Given the description of an element on the screen output the (x, y) to click on. 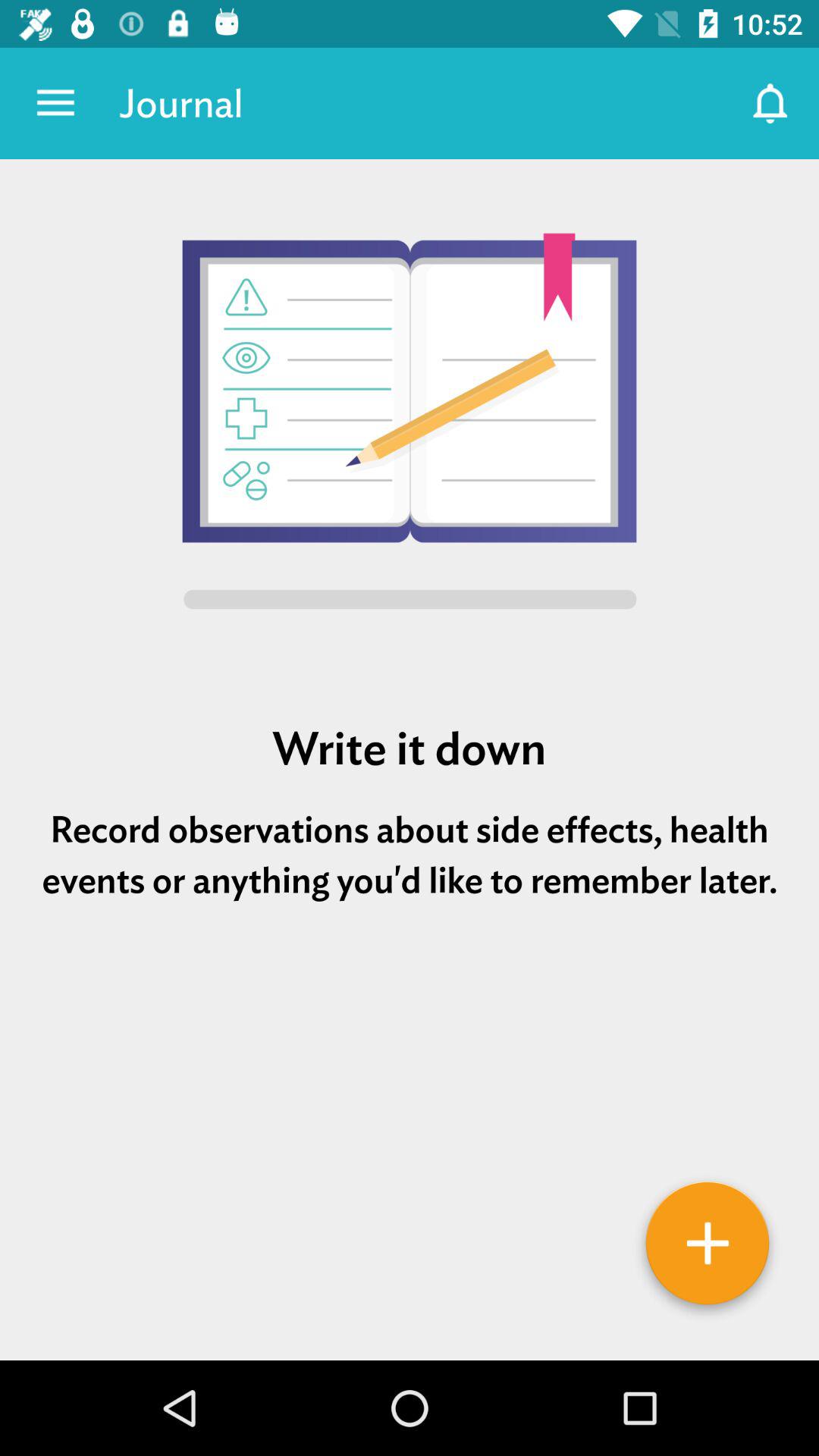
open item to the right of journal item (771, 103)
